Given the description of an element on the screen output the (x, y) to click on. 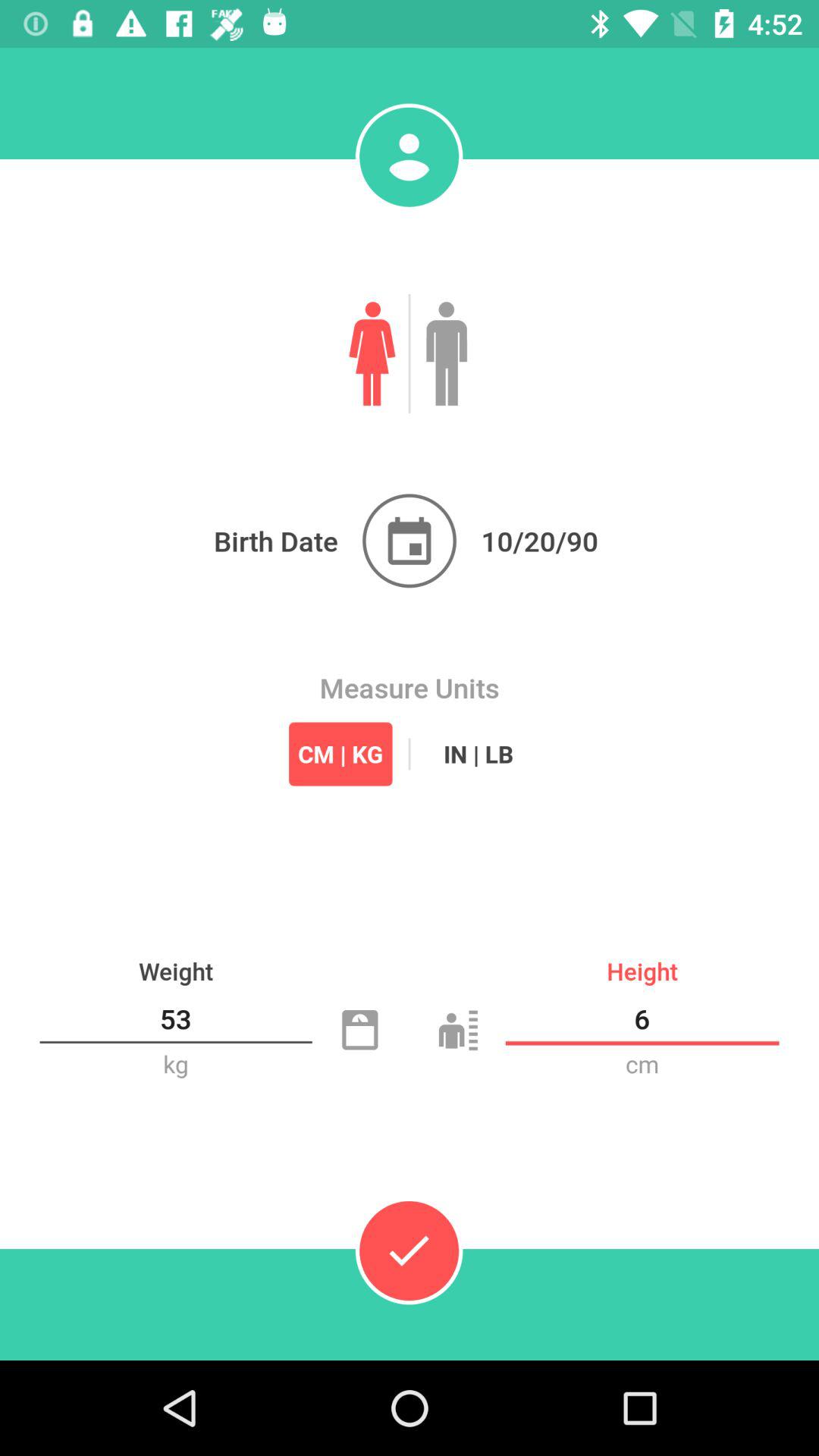
store calender date remeber (409, 540)
